Given the description of an element on the screen output the (x, y) to click on. 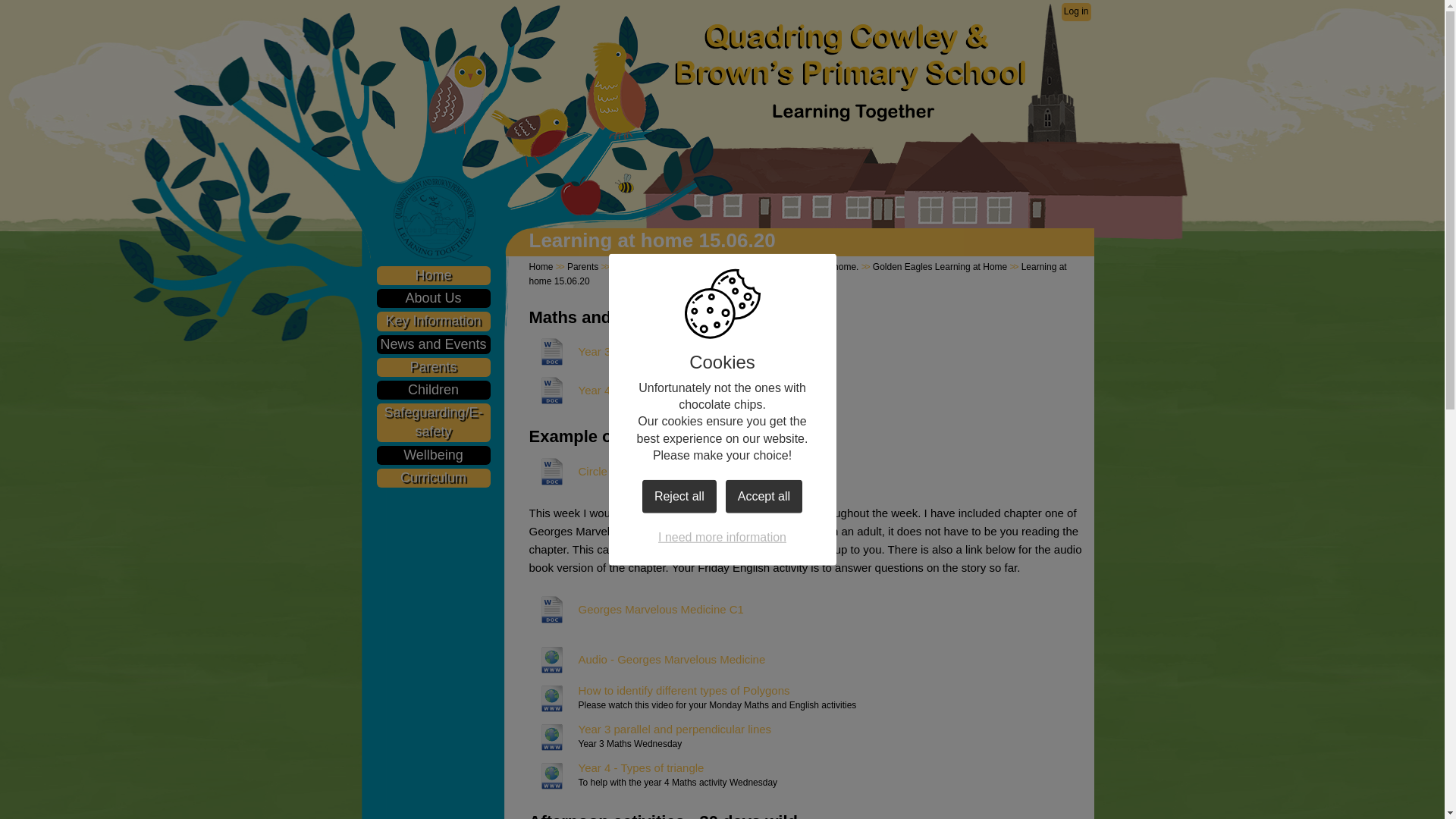
Learning at home 15.06.20 (798, 273)
Year 3 parallel and perpendicular lines (650, 729)
Home Page (849, 56)
School Closures Information and advice on learning at home. (735, 266)
Home Page (849, 56)
Year 4 Maths and English (618, 390)
Parents (582, 266)
About Us (432, 298)
Home (432, 275)
Log in (1075, 12)
